Given the description of an element on the screen output the (x, y) to click on. 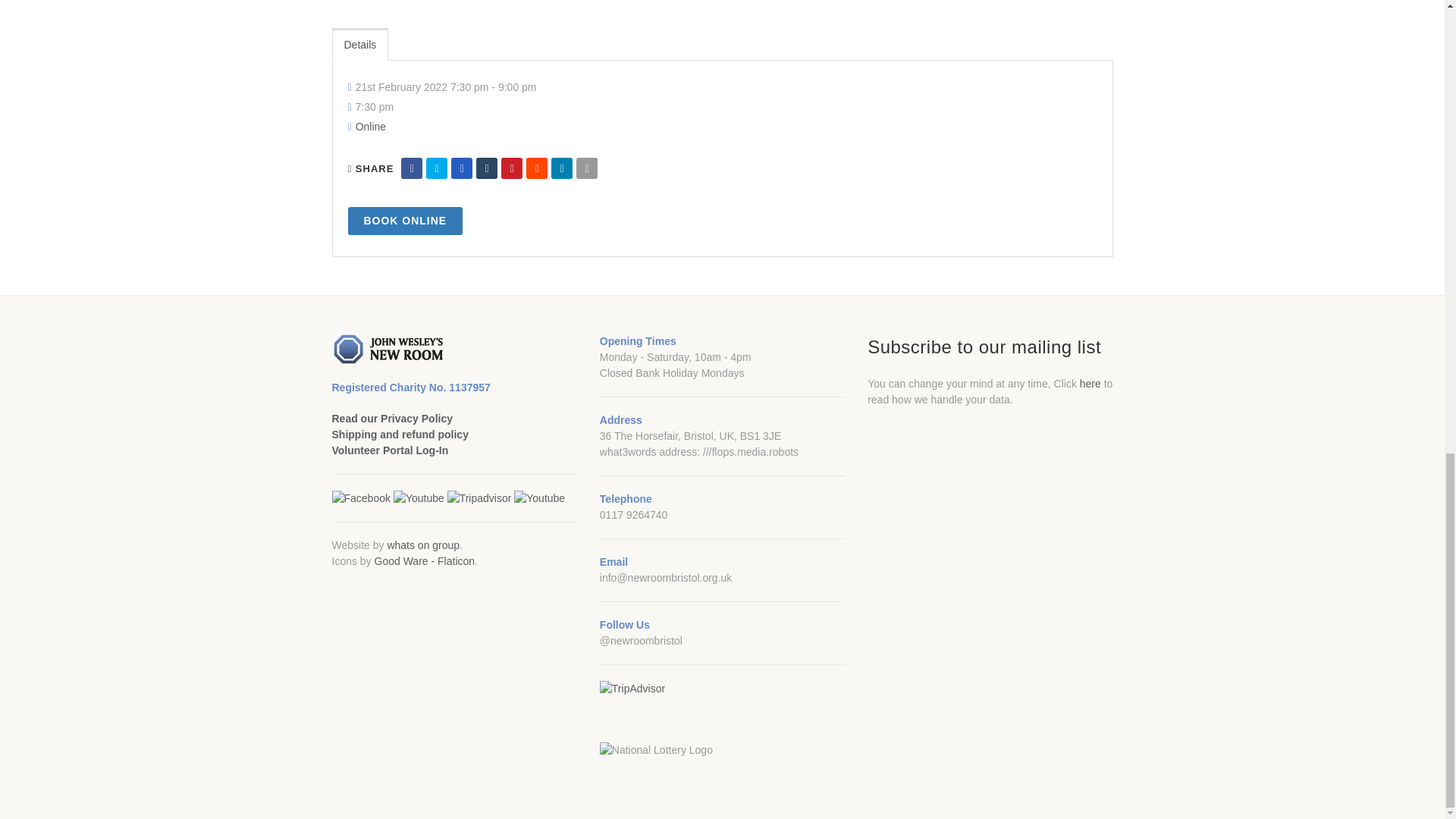
Pin it (511, 168)
Email (586, 168)
Tweet (436, 168)
Share on Facebook (411, 168)
Share on Linkedin (561, 168)
Post to Tumblr (486, 168)
Submit to Reddit (536, 168)
